Given the description of an element on the screen output the (x, y) to click on. 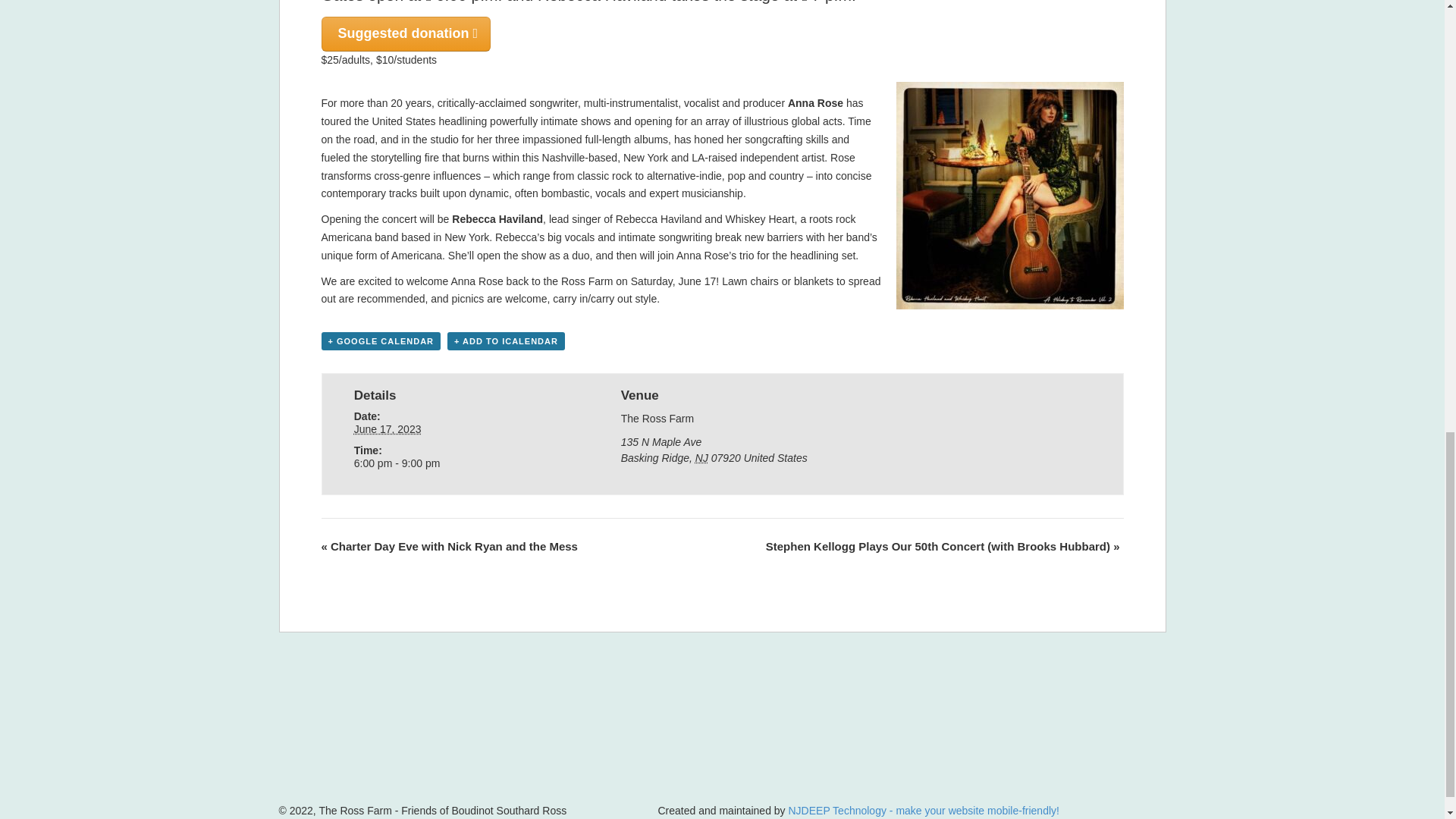
2023-06-17 (455, 463)
Suggested donation (406, 33)
Download .ics file (505, 341)
Add to Google Calendar (381, 341)
New Jersey (701, 458)
2023-06-17 (387, 428)
